Given the description of an element on the screen output the (x, y) to click on. 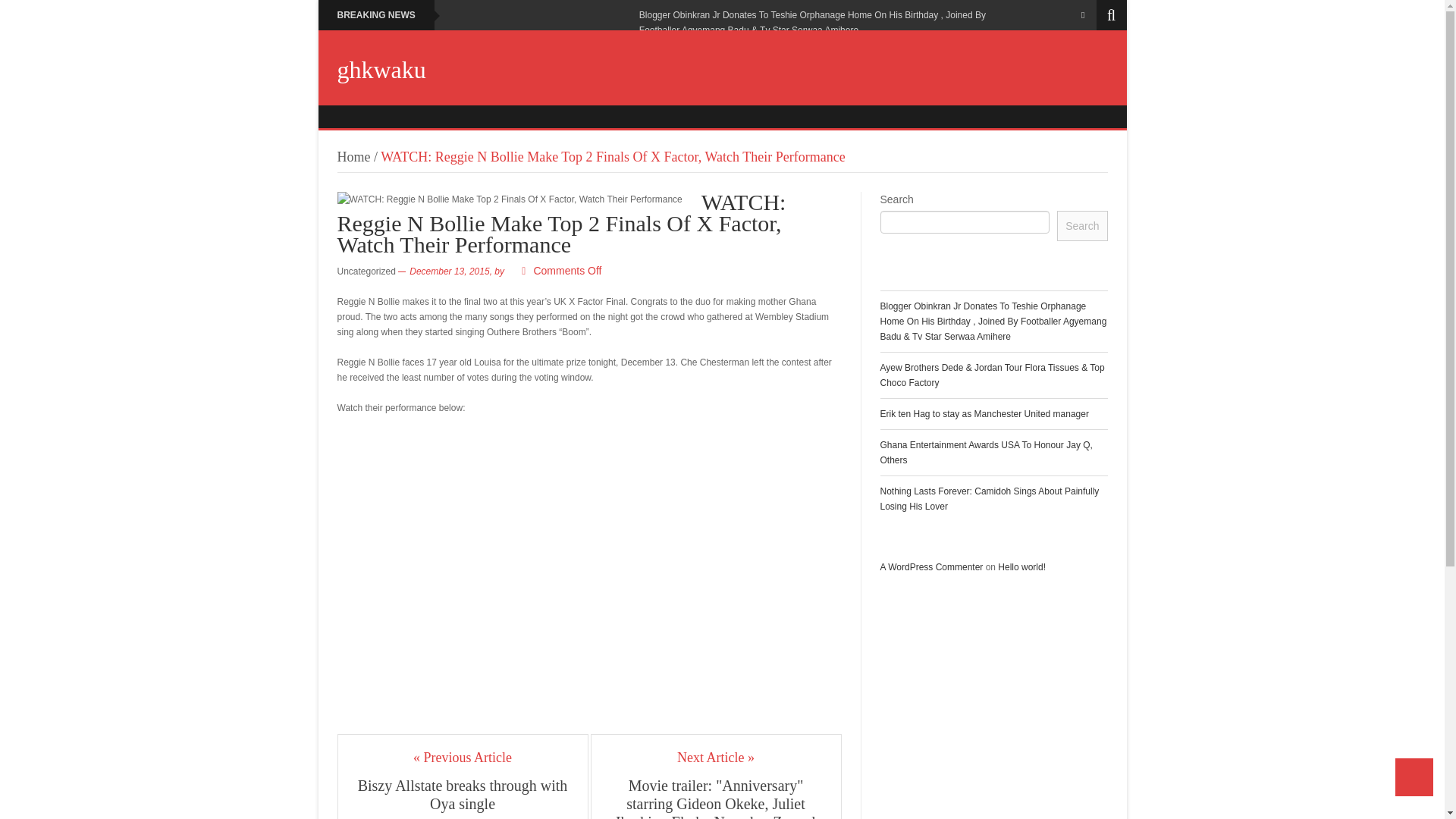
Ghana Entertainment Awards USA To Honour Jay Q, Others (985, 452)
Back to Top (1413, 777)
Hello world! (1021, 566)
ghkwaku (380, 69)
Search (1081, 225)
Home (352, 156)
Biszy Allstate breaks through with Oya single (462, 794)
Erik ten Hag to stay as Manchester United manager (983, 413)
